Given the description of an element on the screen output the (x, y) to click on. 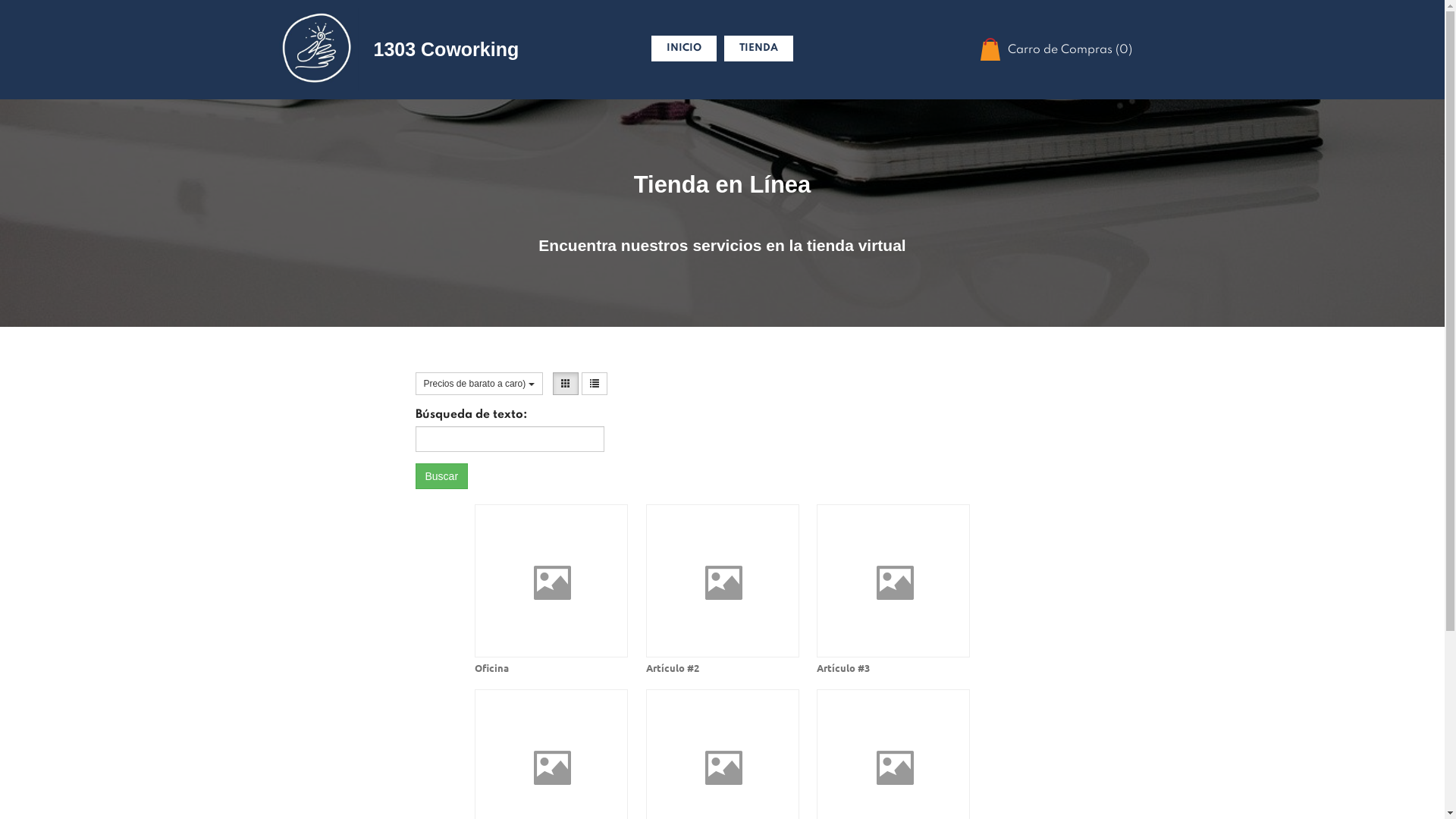
Oficina Element type: text (491, 667)
TIENDA Element type: text (758, 48)
Oficina Element type: text (550, 589)
Buscar Element type: text (441, 476)
INICIO Element type: text (683, 48)
Precios de barato a caro) Element type: text (478, 383)
Carro de Compras Element type: hover (989, 48)
1303 Coworking_Logo Element type: hover (315, 49)
